Given the description of an element on the screen output the (x, y) to click on. 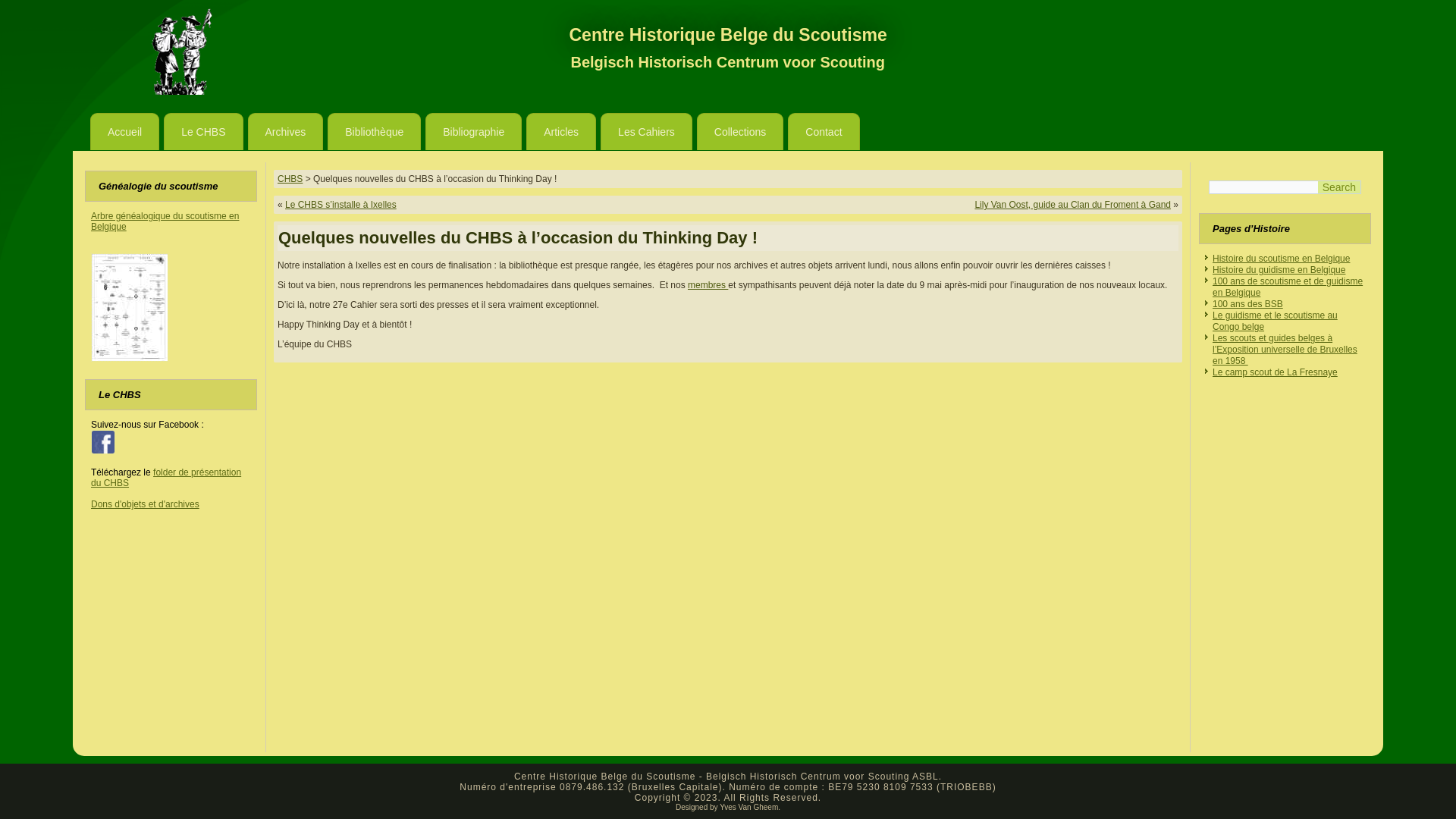
Les Cahiers Element type: text (646, 131)
CHBS Element type: text (289, 178)
Accueil Element type: text (124, 131)
100 ans de scoutisme et de guidisme en Belgique Element type: text (1287, 287)
Le CHBS Element type: text (202, 131)
Histoire du guidisme en Belgique Element type: text (1278, 269)
Archives Element type: text (285, 131)
Collections Element type: text (739, 131)
Contact Element type: text (823, 131)
Dons d'objets et d'archives Element type: text (145, 503)
Centre Historique Belge du Scoutisme Element type: text (727, 34)
100 ans des BSB Element type: text (1247, 303)
Bibliographie Element type: text (473, 131)
Search Element type: text (1338, 187)
Articles Element type: text (561, 131)
Histoire du scoutisme en Belgique Element type: text (1280, 258)
Le guidisme et le scoutisme au Congo belge Element type: text (1274, 321)
membres  Element type: text (707, 284)
Le camp scout de La Fresnaye Element type: text (1274, 372)
